Given the description of an element on the screen output the (x, y) to click on. 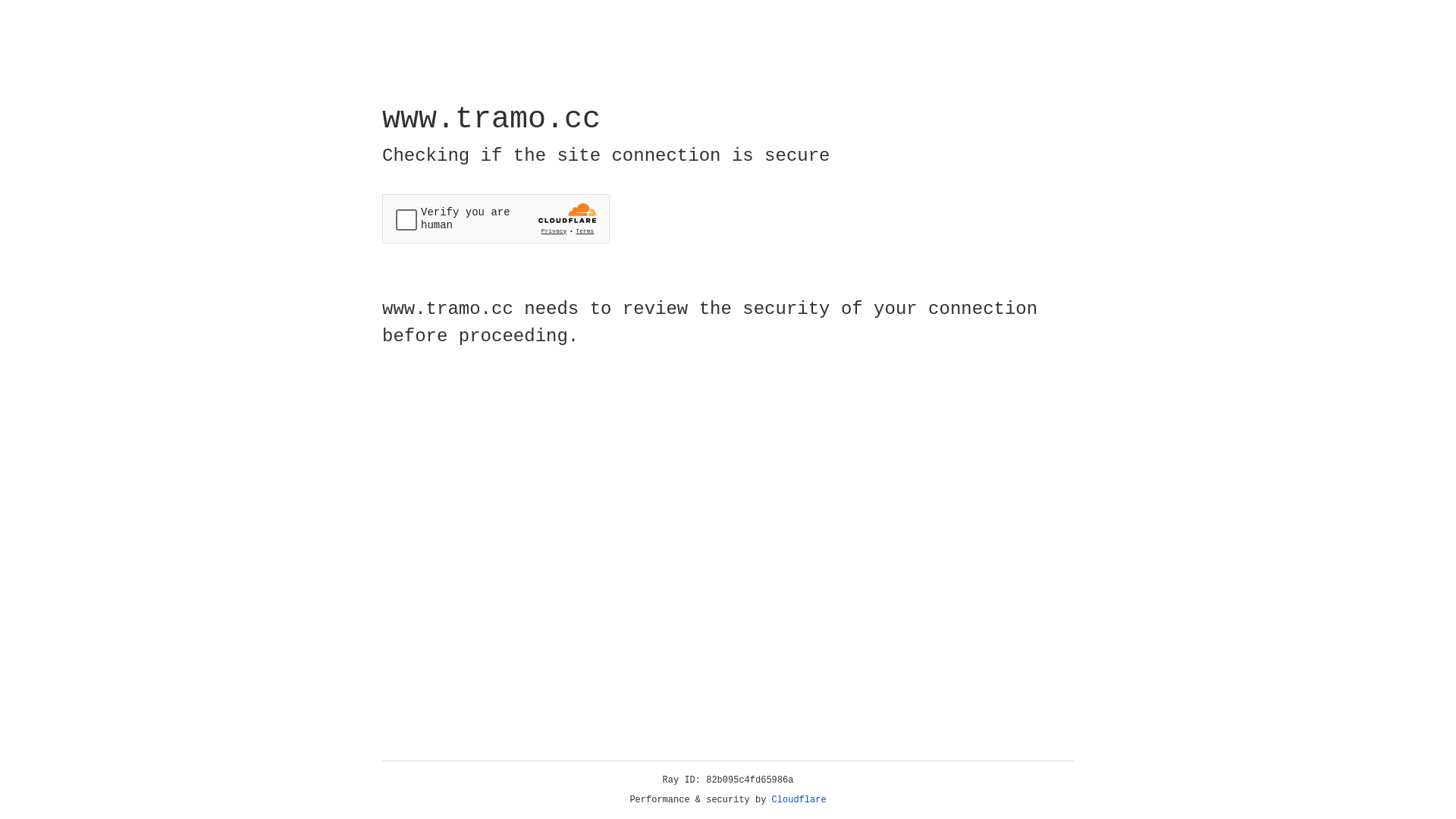
Widget containing a Cloudflare security challenge Element type: hover (495, 218)
Cloudflare Element type: text (798, 799)
